Given the description of an element on the screen output the (x, y) to click on. 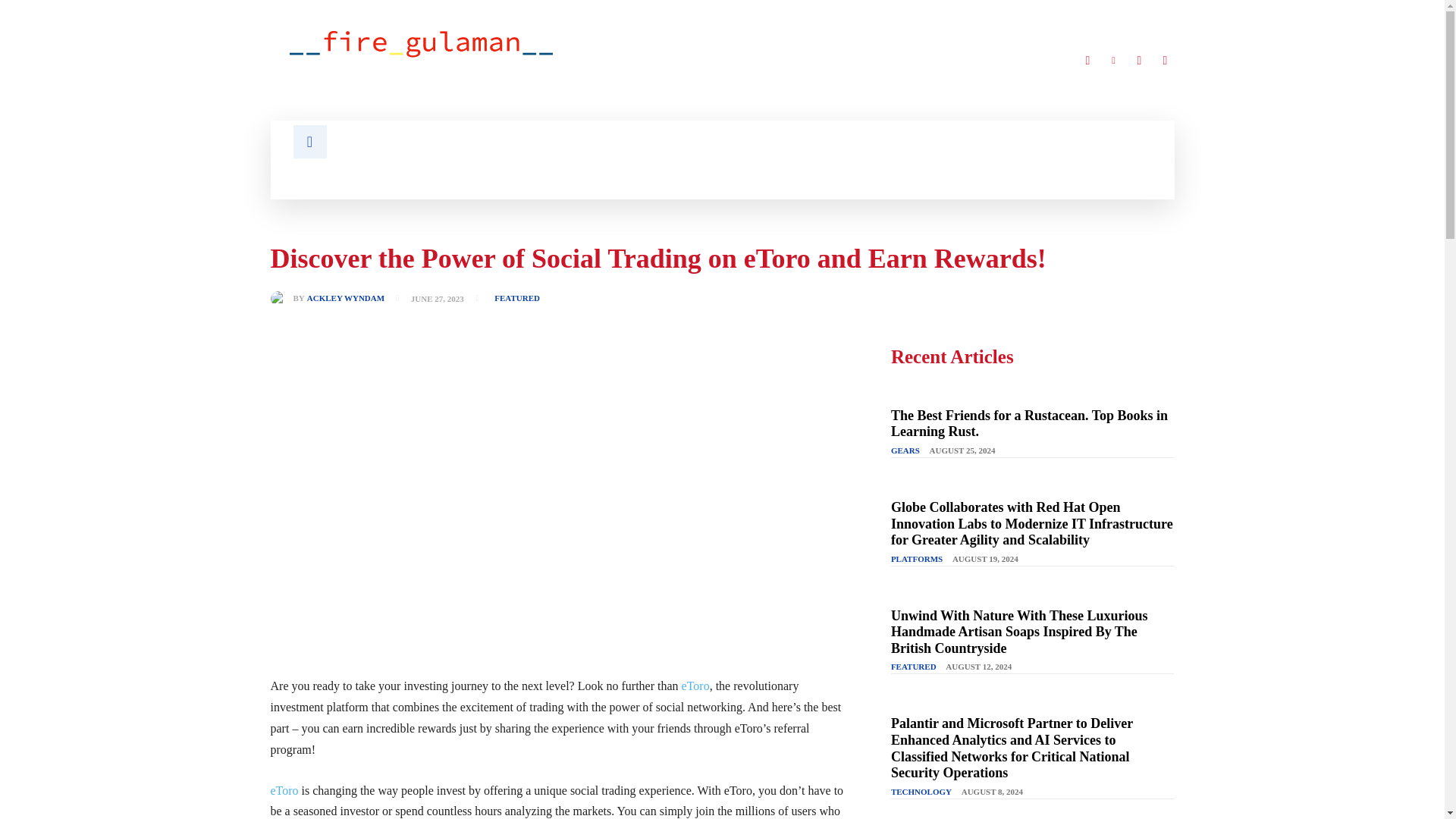
Ackley Wyndam (280, 298)
Linkedin (1112, 60)
ACKLEY WYNDAM (345, 298)
firegulaman (421, 41)
Twitter (1138, 60)
Facebook (1087, 60)
